Given the description of an element on the screen output the (x, y) to click on. 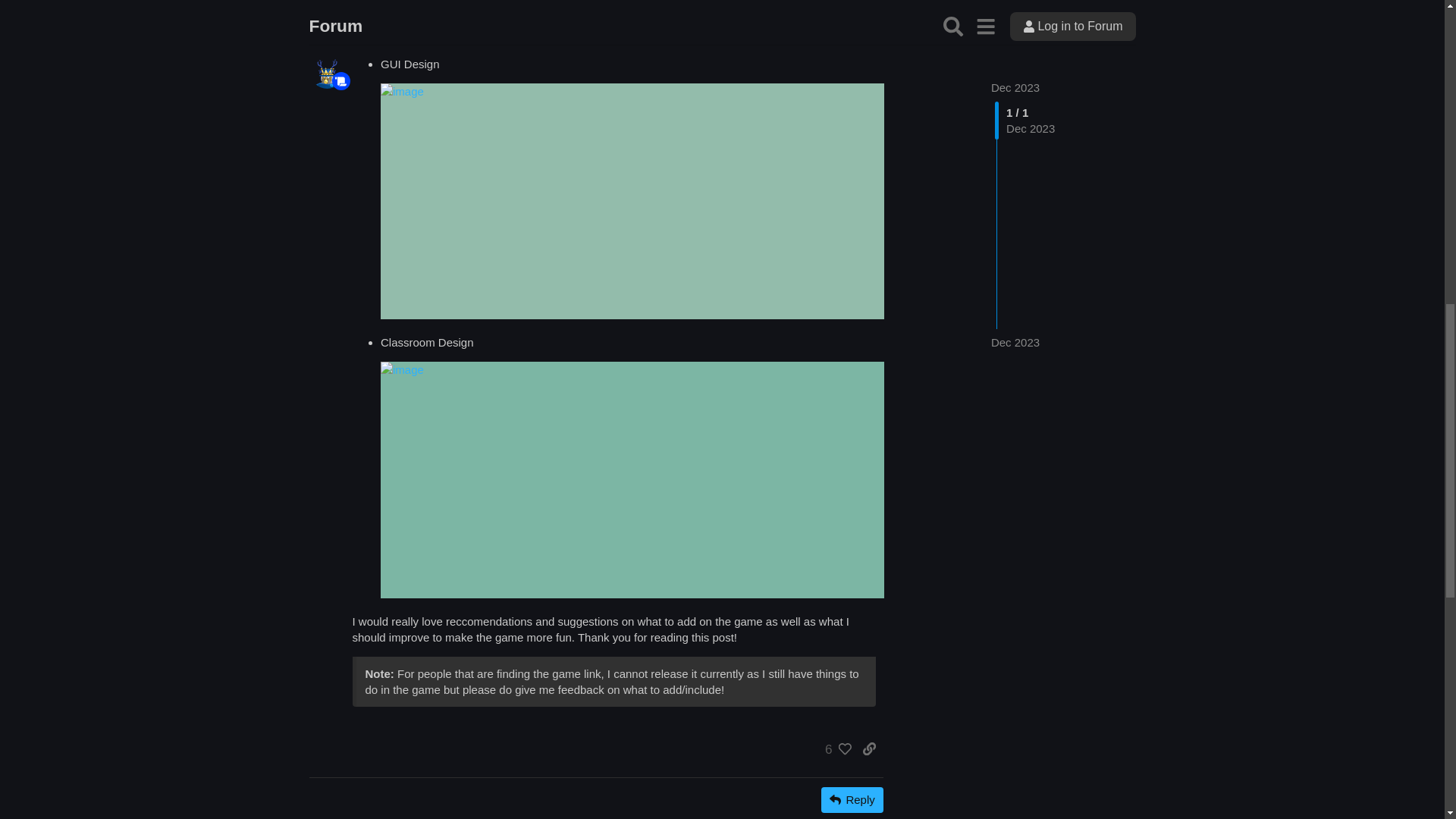
Reply (852, 800)
image (642, 201)
6 people liked this post (833, 749)
image (642, 479)
6 (833, 749)
